Given the description of an element on the screen output the (x, y) to click on. 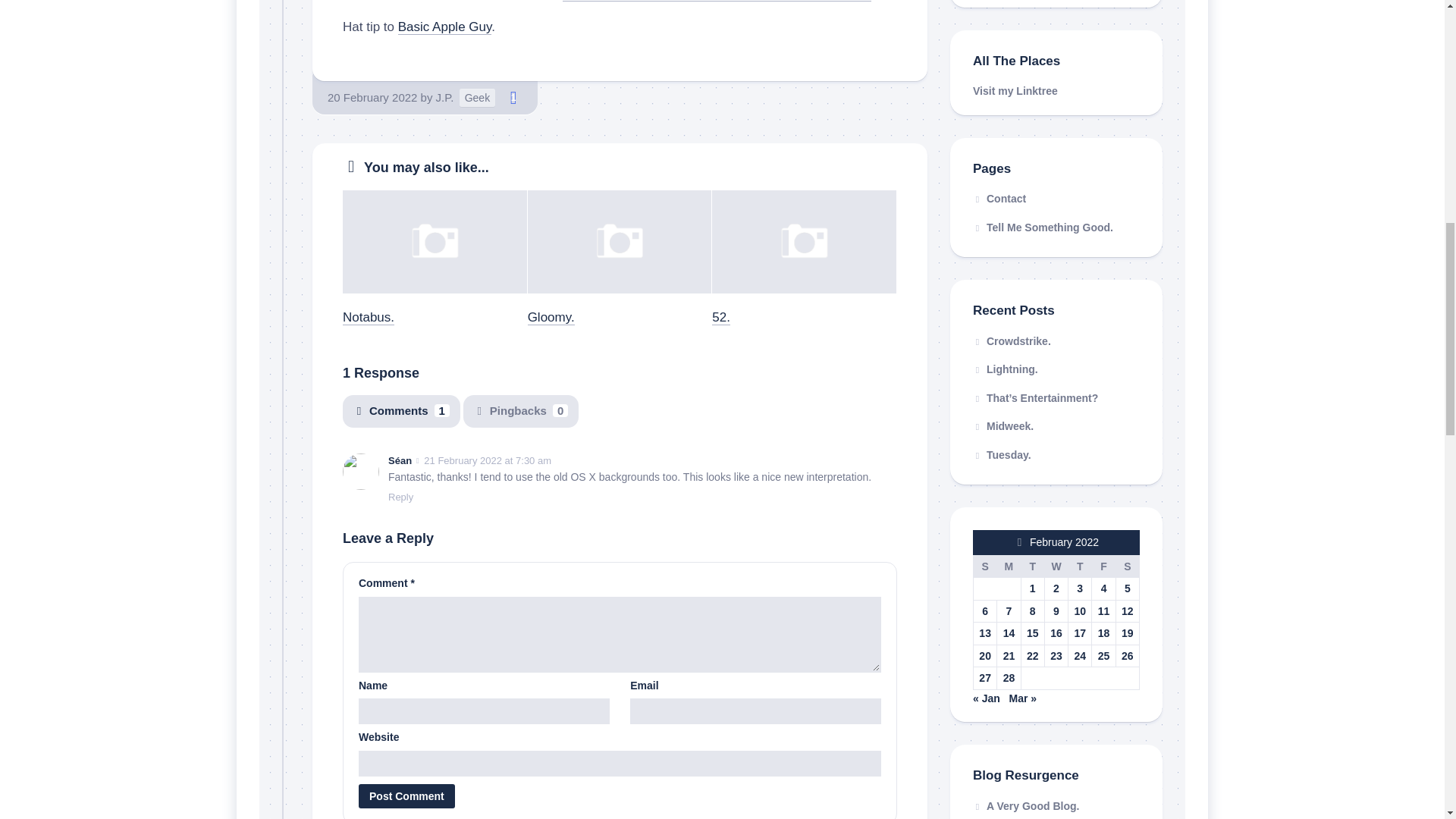
Pingbacks0 (520, 410)
Tell Me Something Good. (1056, 227)
Post Comment (406, 795)
Contact (1056, 199)
Lightning. (1005, 369)
1 (512, 97)
Comments1 (401, 410)
Post Comment (406, 795)
Thursday (1080, 566)
52. (720, 317)
21 February 2022 at 7:30 am (487, 460)
Sunday (985, 566)
Posts by J.P. (444, 97)
Notabus. (368, 317)
Saturday (1126, 566)
